Given the description of an element on the screen output the (x, y) to click on. 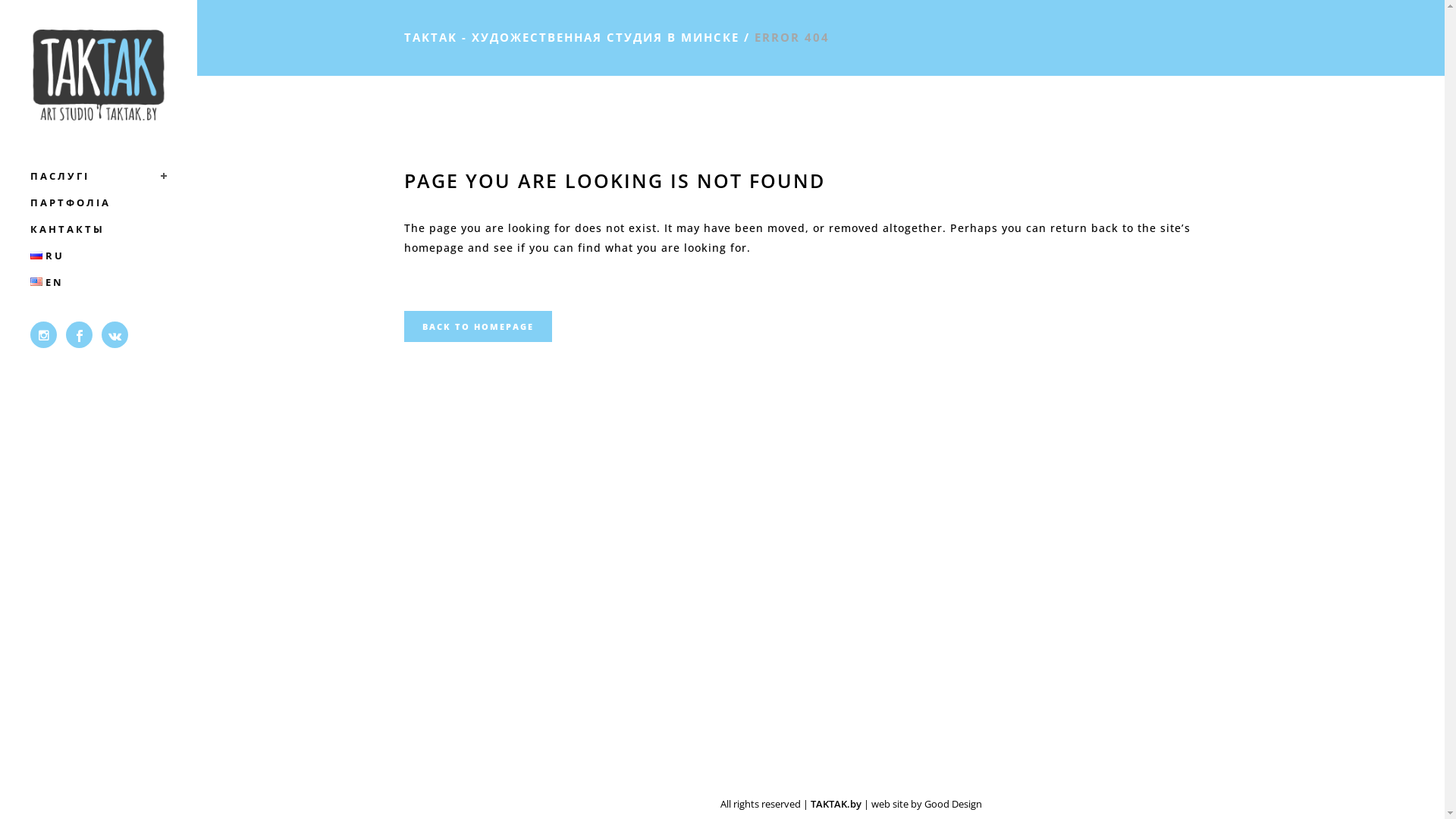
BACK TO HOMEPAGE Element type: text (477, 326)
RU Element type: text (98, 255)
en Element type: hover (36, 281)
TAKTAK.by Element type: text (835, 803)
EN Element type: text (98, 282)
ru Element type: hover (36, 255)
